Given the description of an element on the screen output the (x, y) to click on. 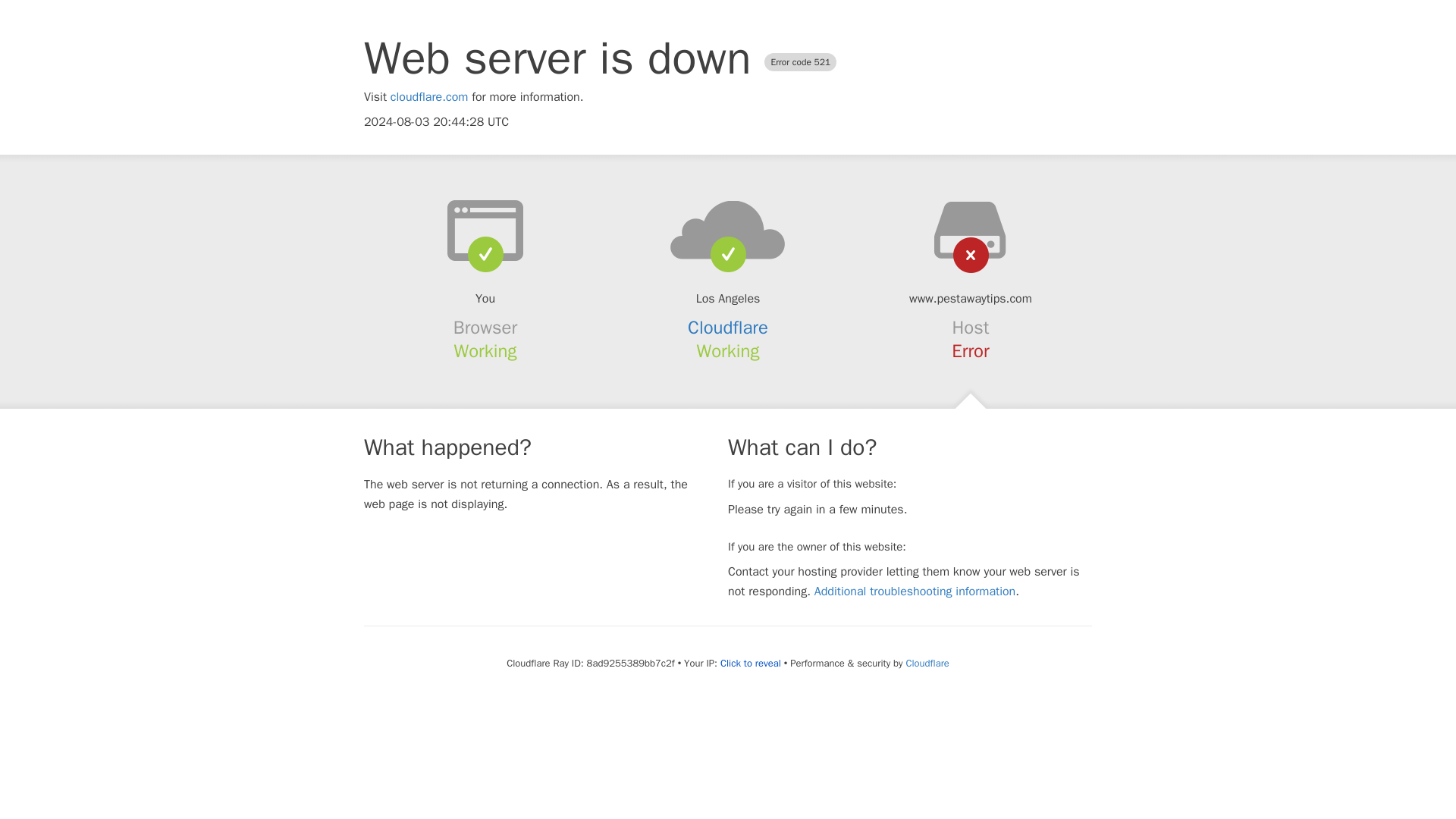
Click to reveal (750, 663)
Cloudflare (727, 327)
Cloudflare (927, 662)
Additional troubleshooting information (913, 590)
cloudflare.com (429, 96)
